Given the description of an element on the screen output the (x, y) to click on. 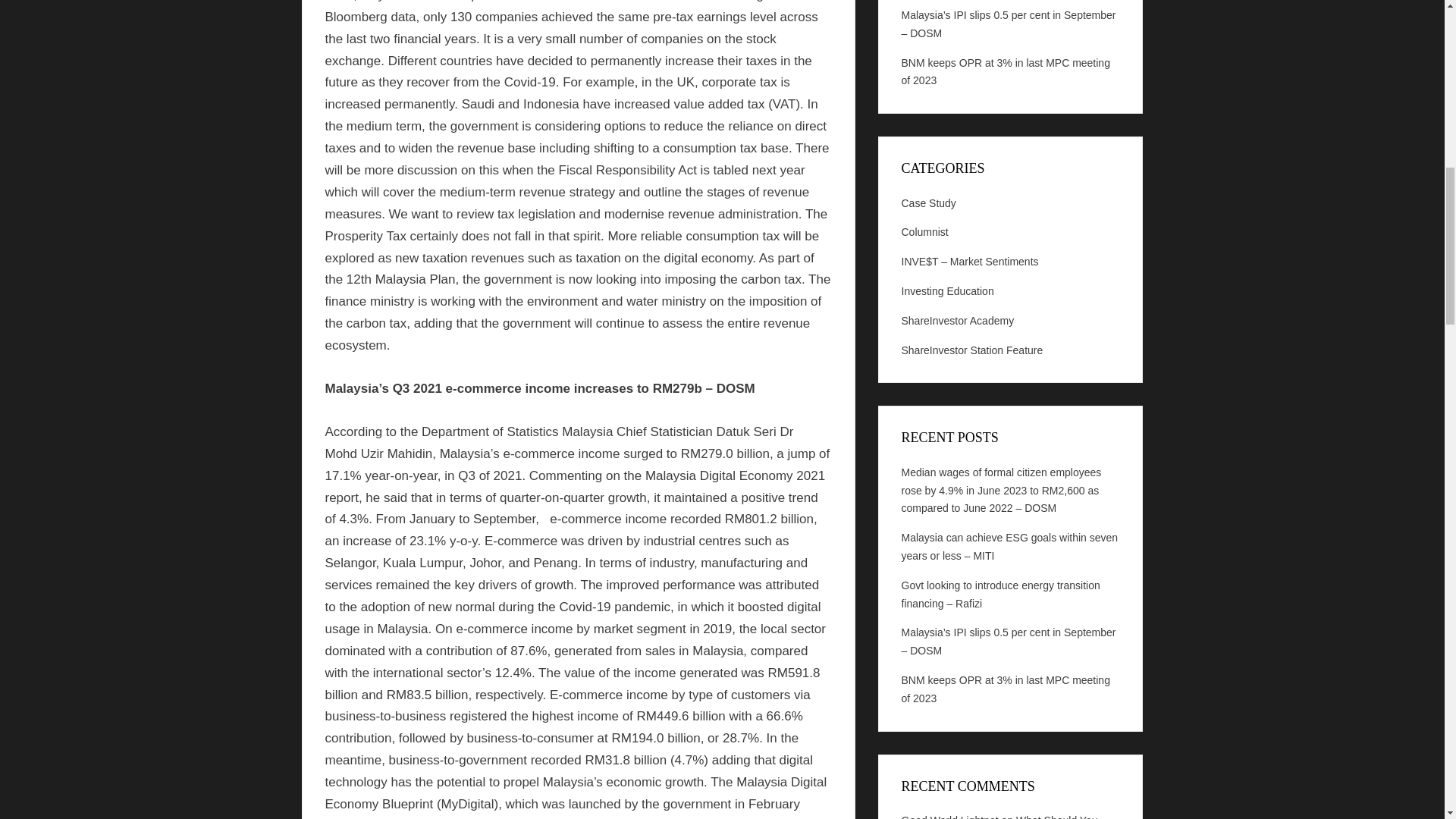
Investing Education (946, 291)
Case Study (928, 203)
Columnist (924, 232)
Good World Lightnet (949, 816)
ShareInvestor Academy (957, 320)
ShareInvestor Station Feature (971, 349)
